Given the description of an element on the screen output the (x, y) to click on. 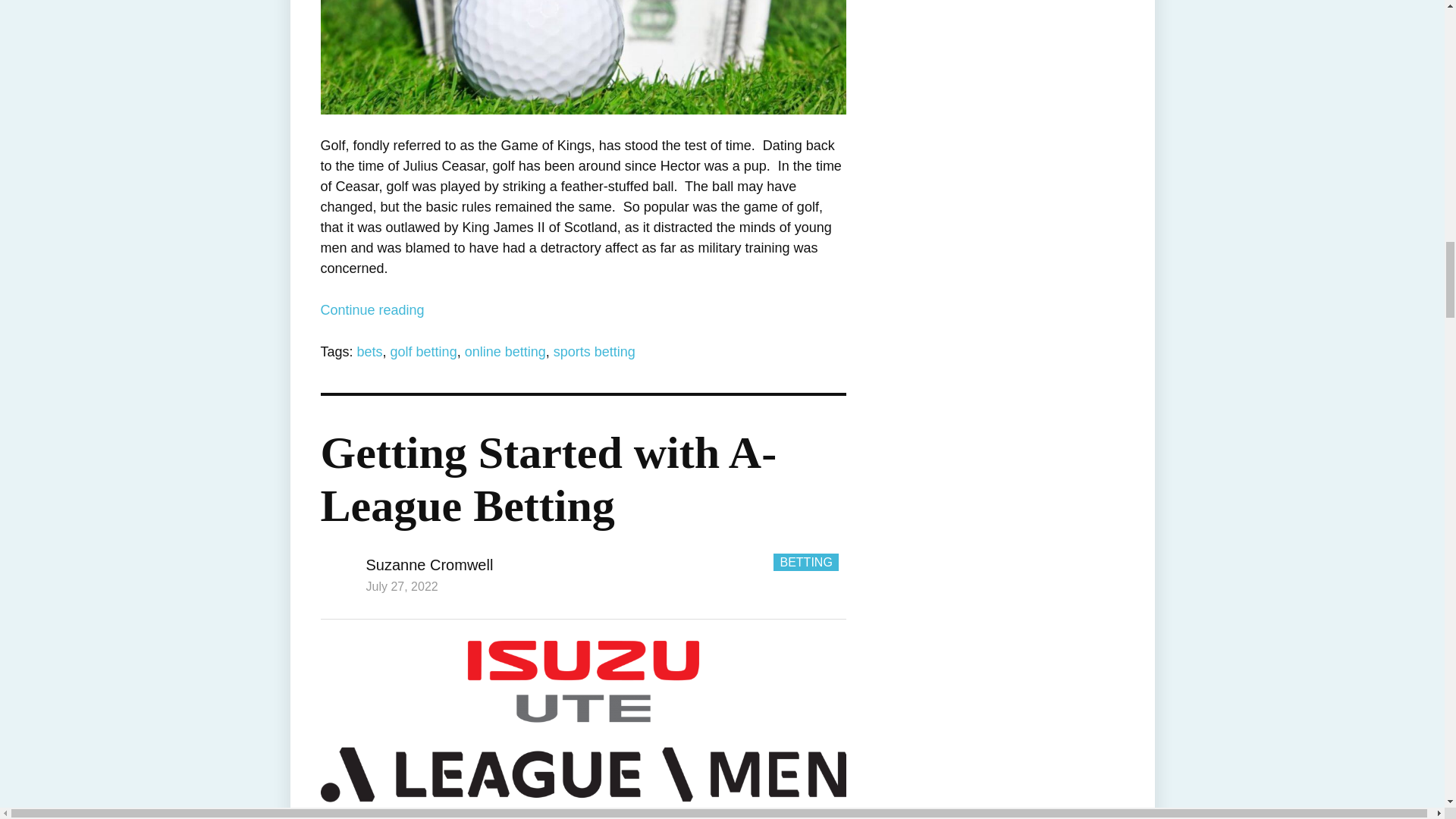
golf betting (423, 351)
July 27, 2022 (401, 585)
Getting Started with A-League Betting (548, 478)
bets (369, 351)
Suzanne Cromwell (429, 564)
sports betting (593, 351)
BETTING (805, 561)
online betting (505, 351)
